Given the description of an element on the screen output the (x, y) to click on. 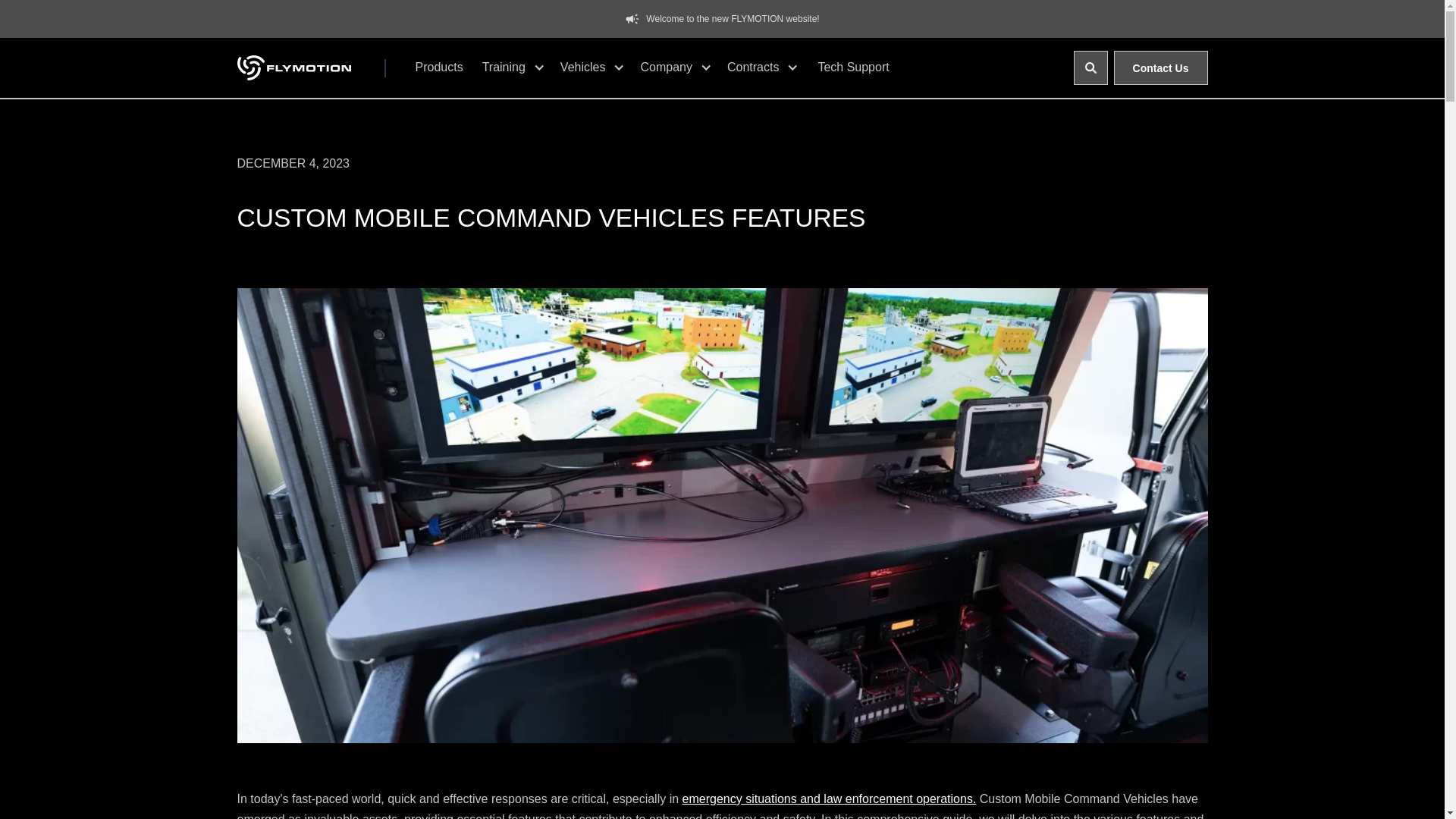
Tech Support (852, 67)
Contact Us (1160, 67)
emergency situations and law enforcement operations. (829, 798)
Products (438, 67)
